Given the description of an element on the screen output the (x, y) to click on. 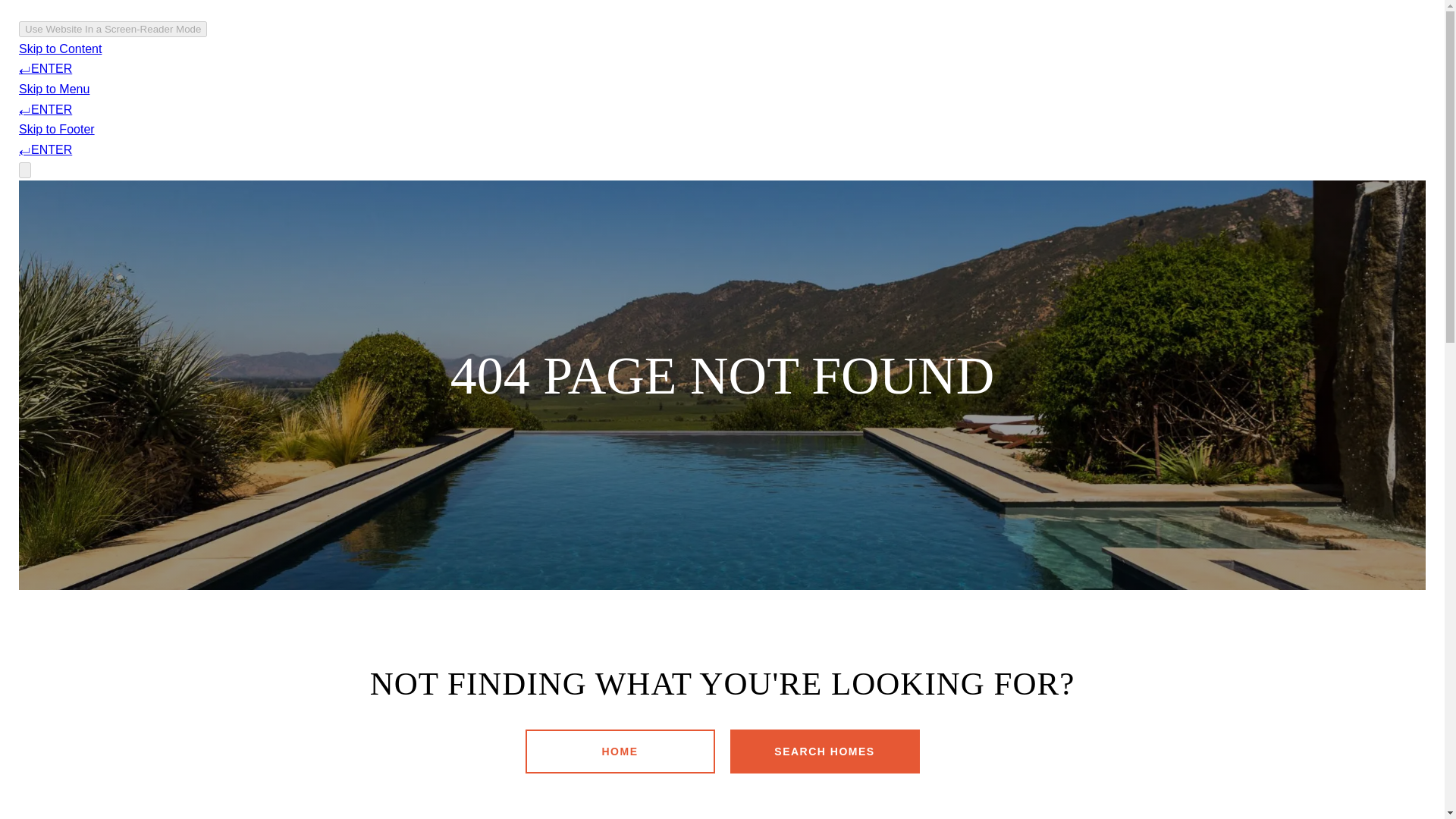
HOME (619, 751)
HOME SEARCH (706, 55)
NEIGHBORHOODS (945, 55)
PORTFOLIO (609, 55)
CONTACT US (1054, 55)
HOME VALUATION (822, 55)
SEARCH HOMES (823, 751)
